Given the description of an element on the screen output the (x, y) to click on. 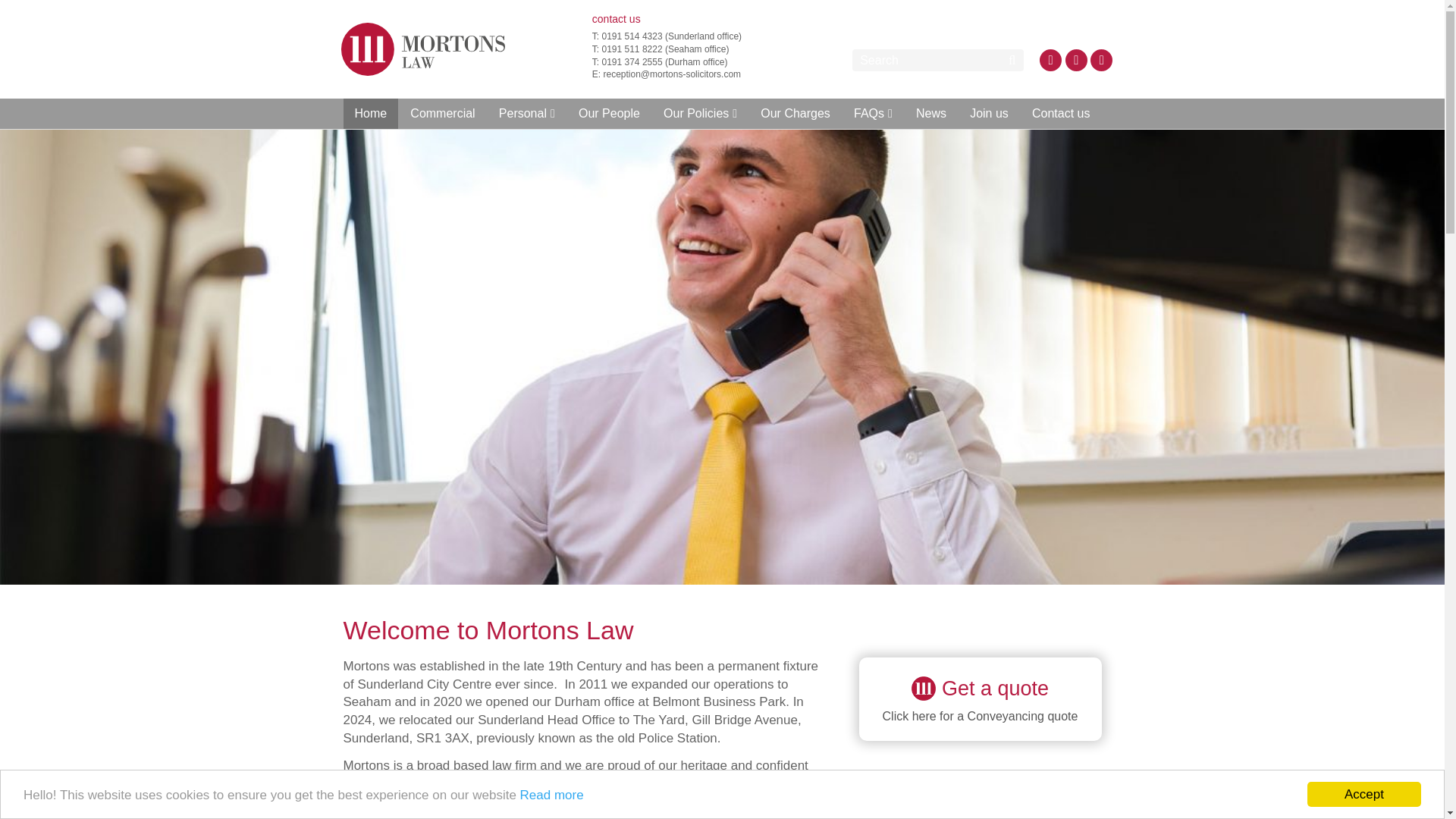
Our Charges (795, 113)
Join us (989, 113)
Live Chat Button (1414, 603)
News (931, 113)
Commercial (442, 113)
Home (369, 113)
Contact us (1060, 113)
Personal (526, 113)
Our Policies (700, 113)
FAQs (979, 699)
Our People (873, 113)
